Given the description of an element on the screen output the (x, y) to click on. 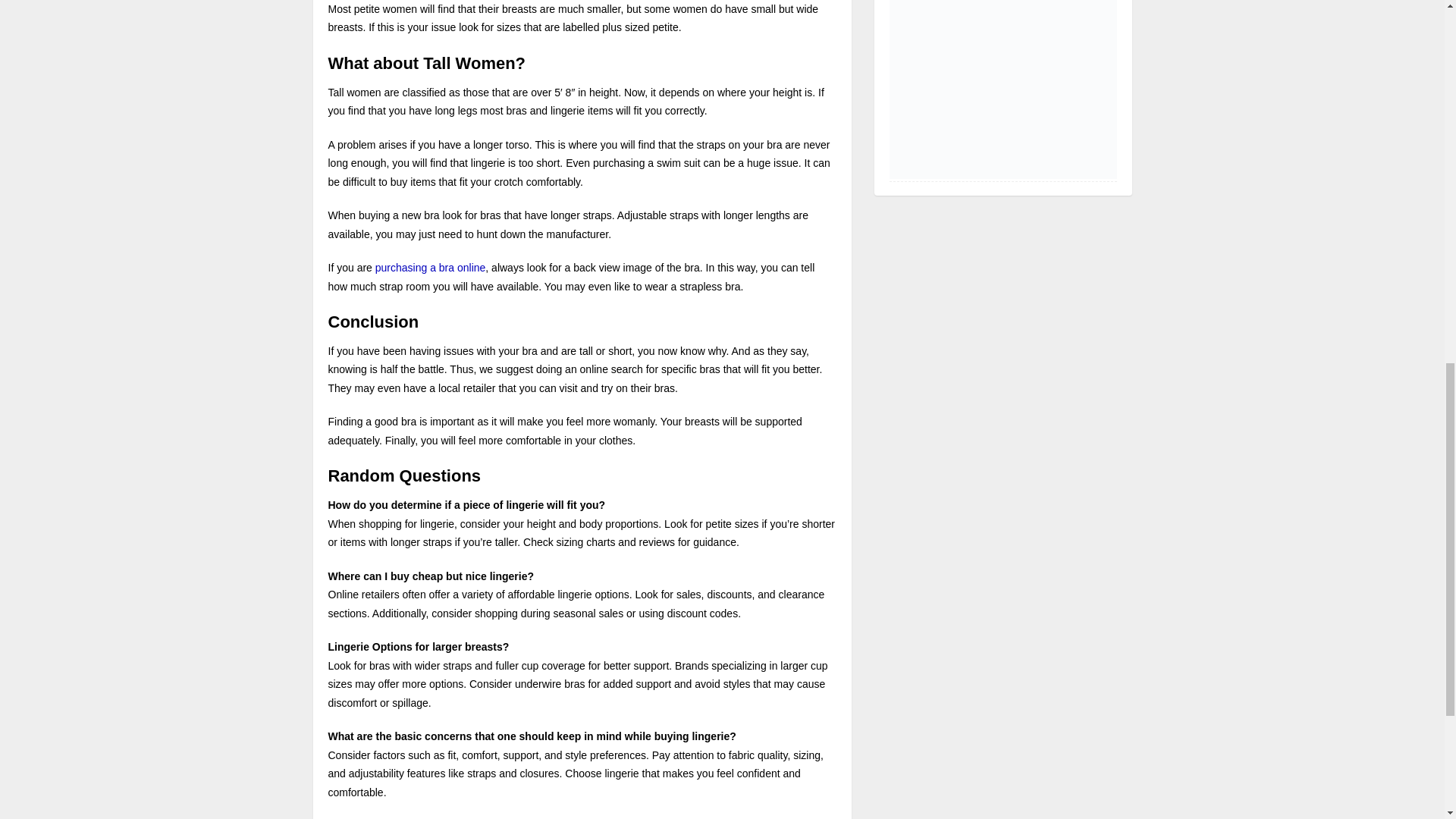
purchasing a bra online (430, 267)
